Given the description of an element on the screen output the (x, y) to click on. 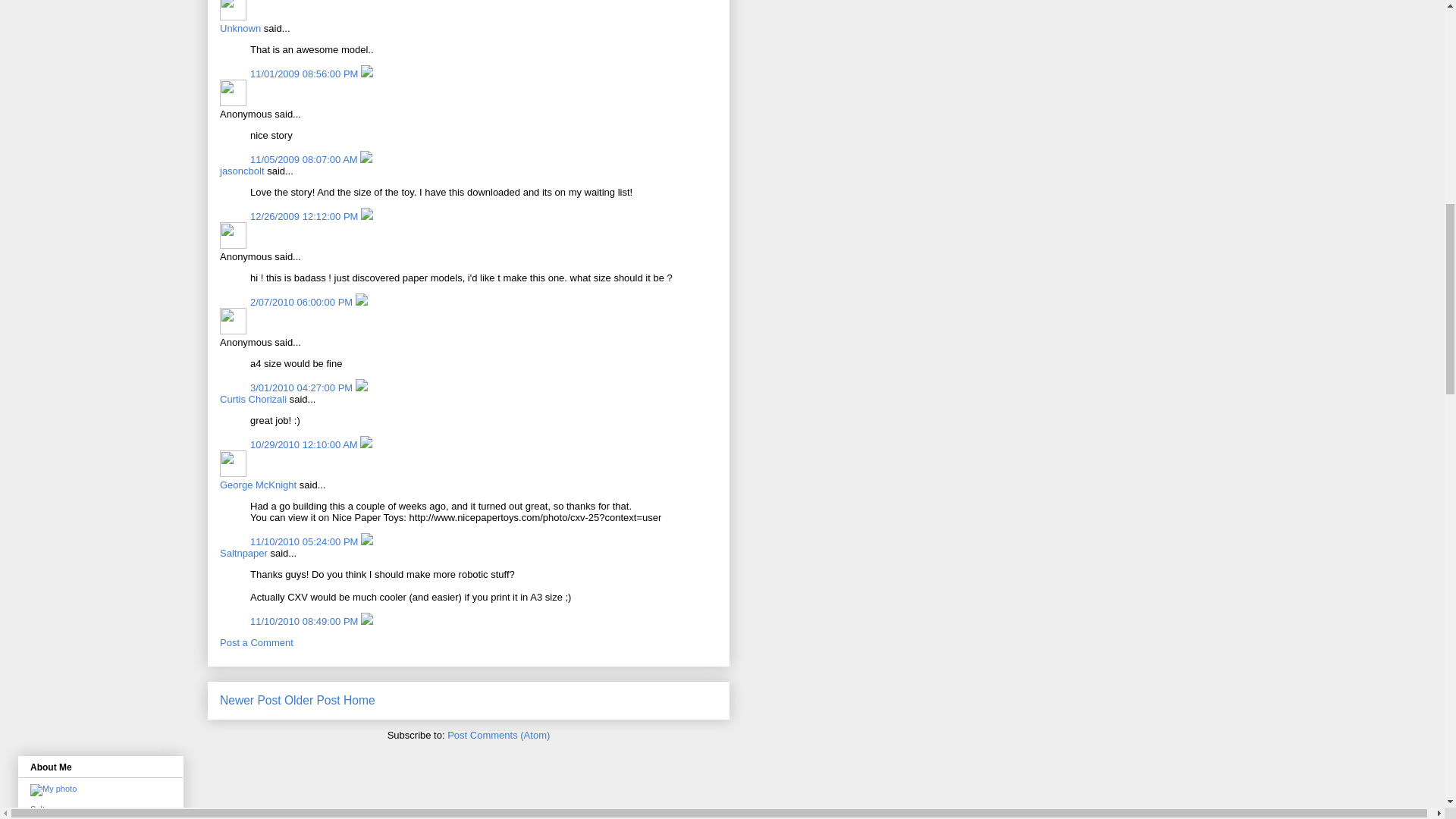
Delete Comment (365, 159)
Unknown (232, 10)
comment permalink (304, 159)
Delete Comment (366, 73)
Unknown (239, 28)
Curtis Chorizali (252, 398)
jasoncbolt (241, 170)
Anonymous (232, 92)
comment permalink (305, 73)
